Given the description of an element on the screen output the (x, y) to click on. 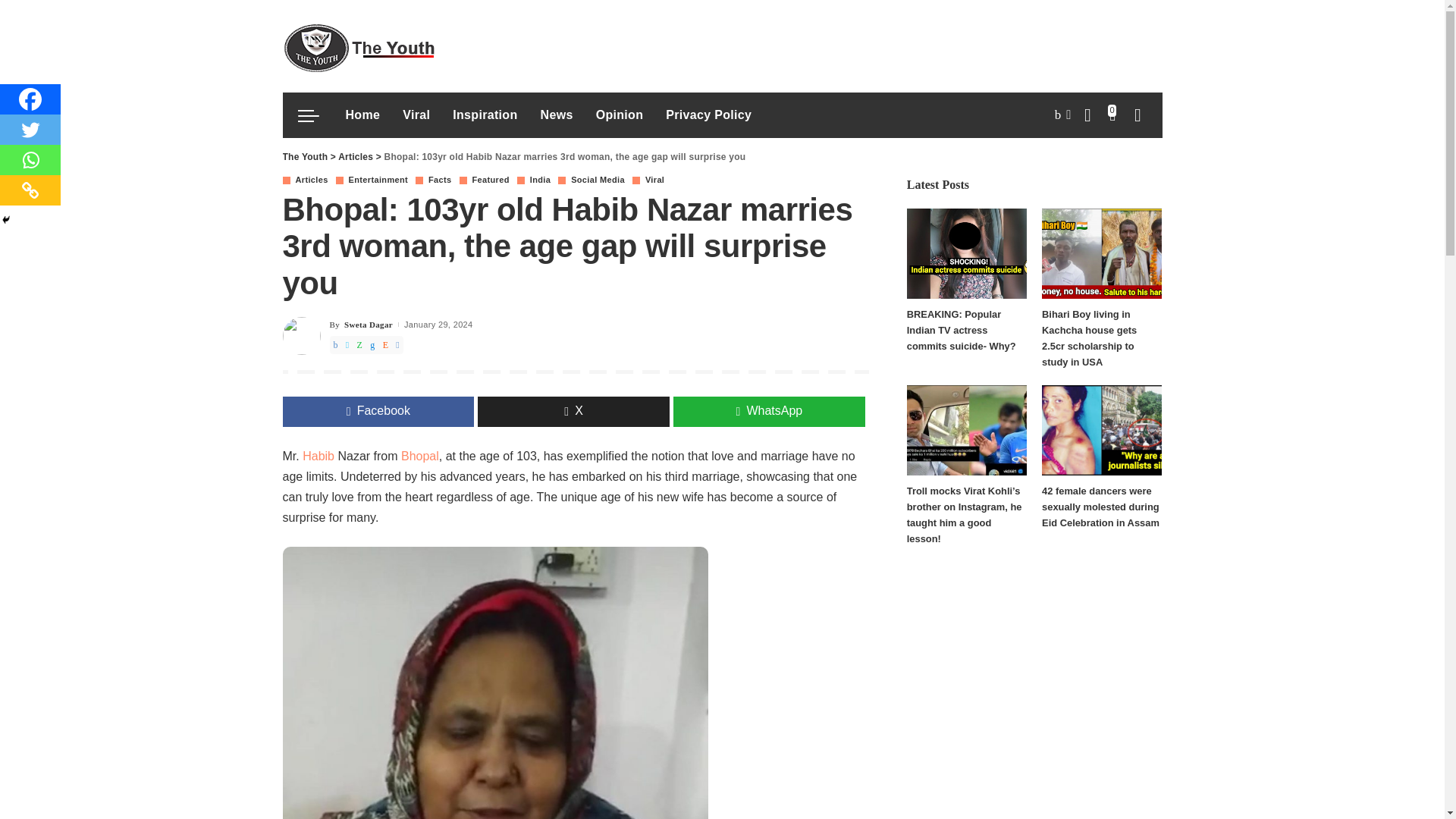
The Youth (357, 45)
Go to the Articles Category archives. (354, 156)
Whatsapp (30, 159)
Twitter (30, 129)
Copy Link (30, 190)
Facebook (30, 99)
Go to The Youth. (304, 156)
Hide (5, 219)
